Given the description of an element on the screen output the (x, y) to click on. 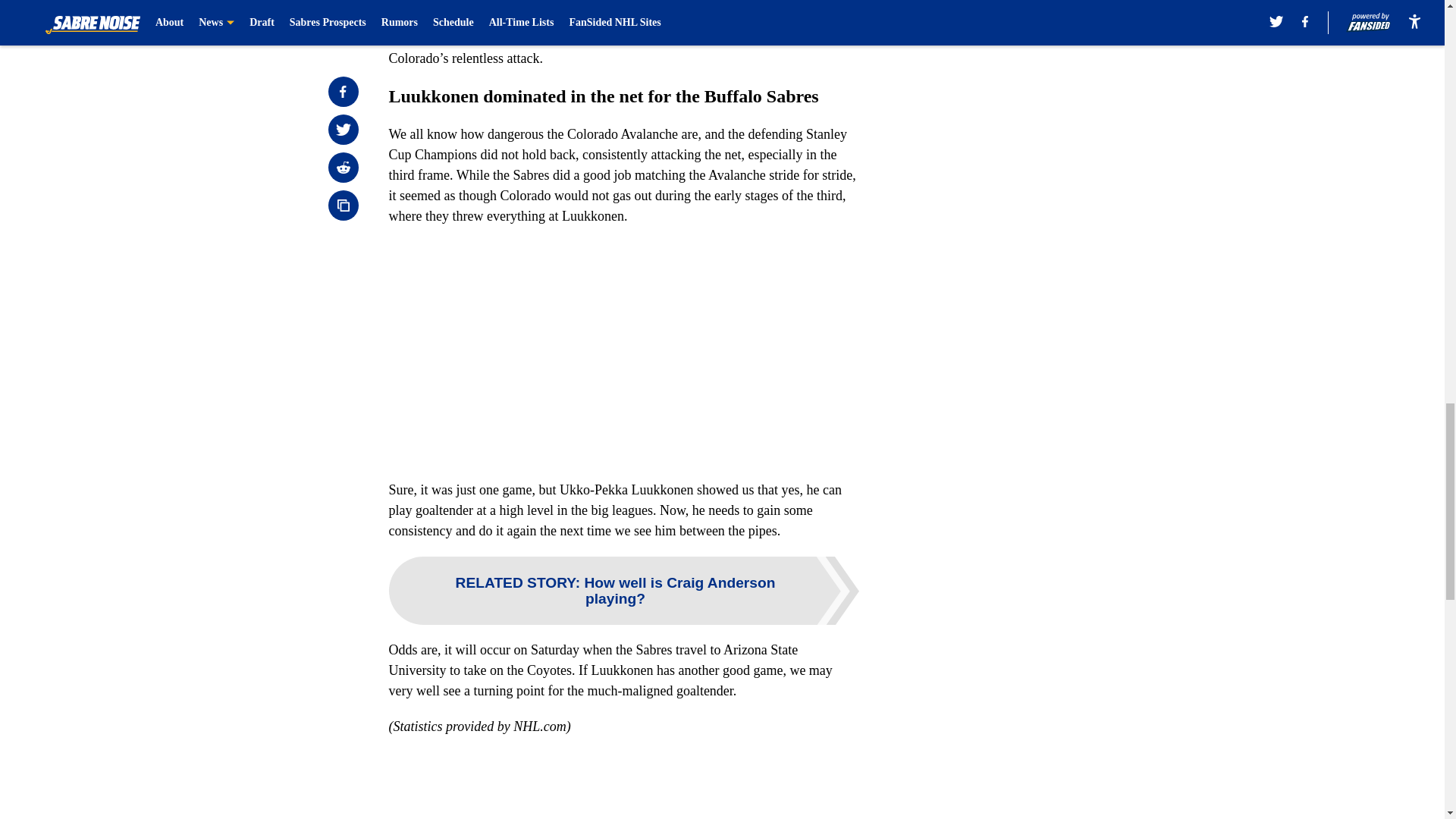
RELATED STORY: How well is Craig Anderson playing? (623, 590)
